Given the description of an element on the screen output the (x, y) to click on. 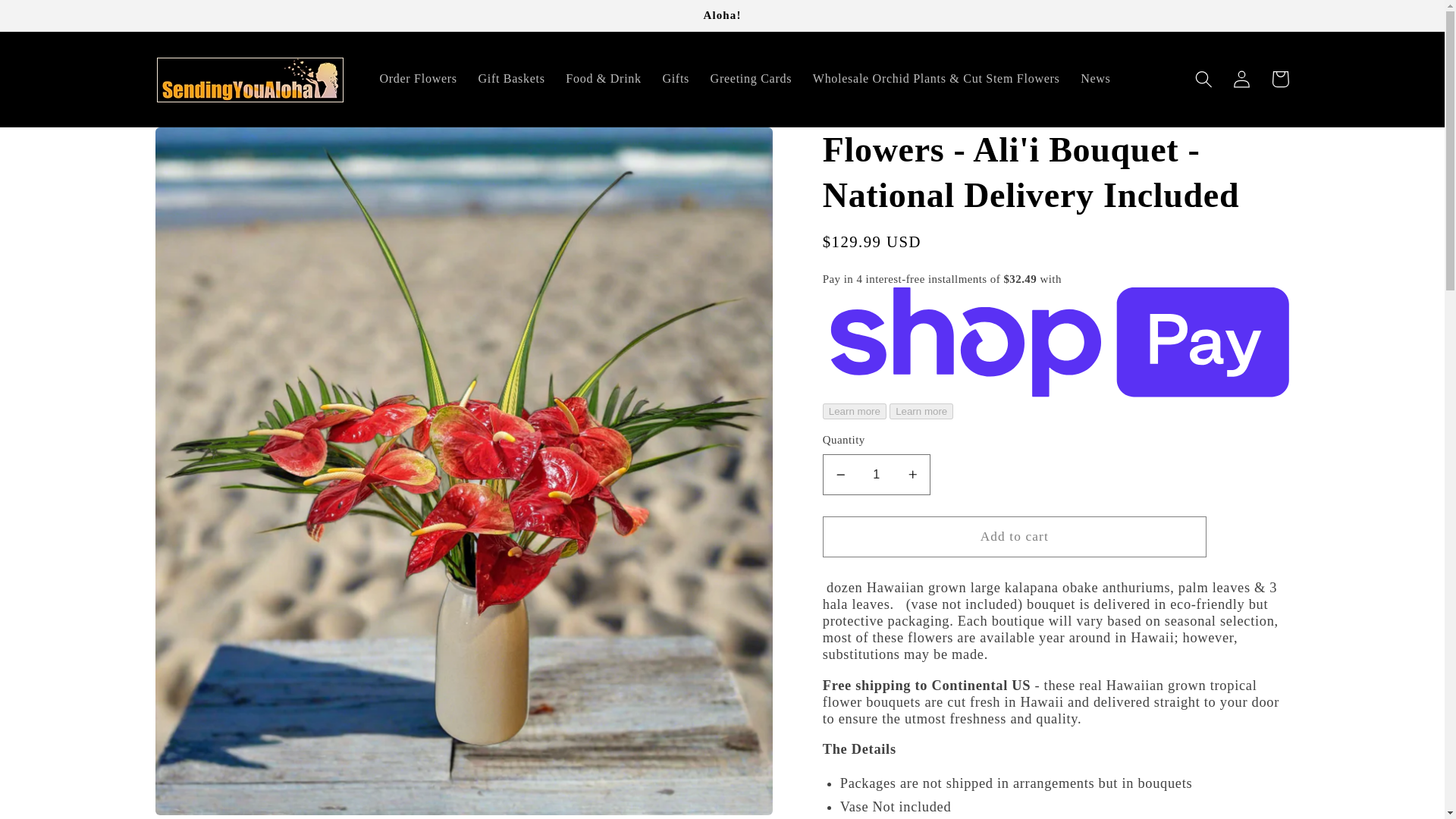
Skip to product information (207, 146)
Skip to content (52, 20)
Log in (1242, 78)
Cart (1280, 78)
1 (876, 474)
Gift Baskets (511, 79)
Greeting Cards (751, 79)
News (1095, 79)
Order Flowers (418, 79)
Gifts (676, 79)
Add to cart (1014, 536)
